Given the description of an element on the screen output the (x, y) to click on. 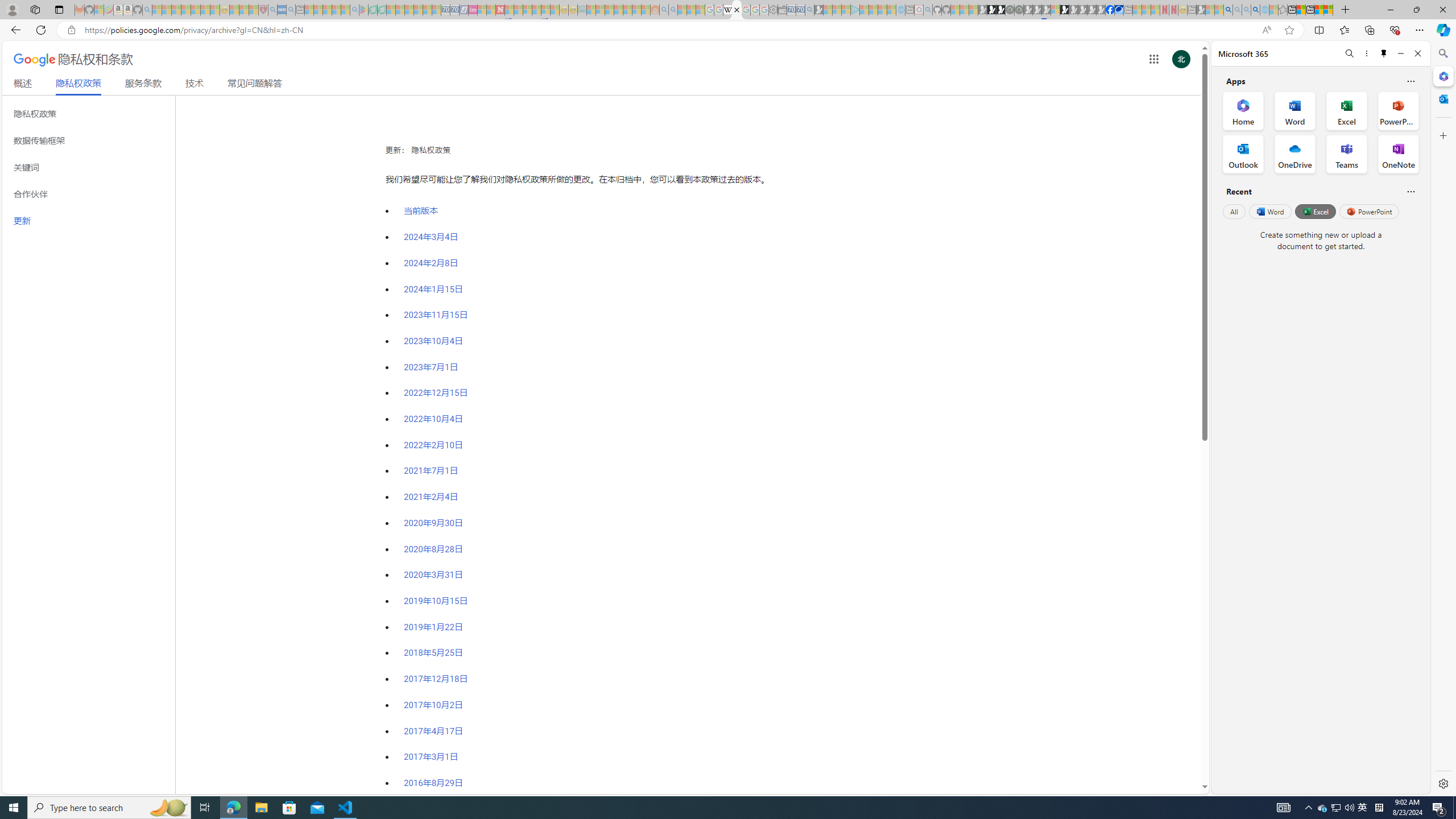
Settings - Sleeping (773, 9)
Local - MSN - Sleeping (253, 9)
The Weather Channel - MSN - Sleeping (175, 9)
Favorites - Sleeping (1283, 9)
utah sues federal government - Search - Sleeping (290, 9)
Kinda Frugal - MSN - Sleeping (627, 9)
Expert Portfolios - Sleeping (617, 9)
